Given the description of an element on the screen output the (x, y) to click on. 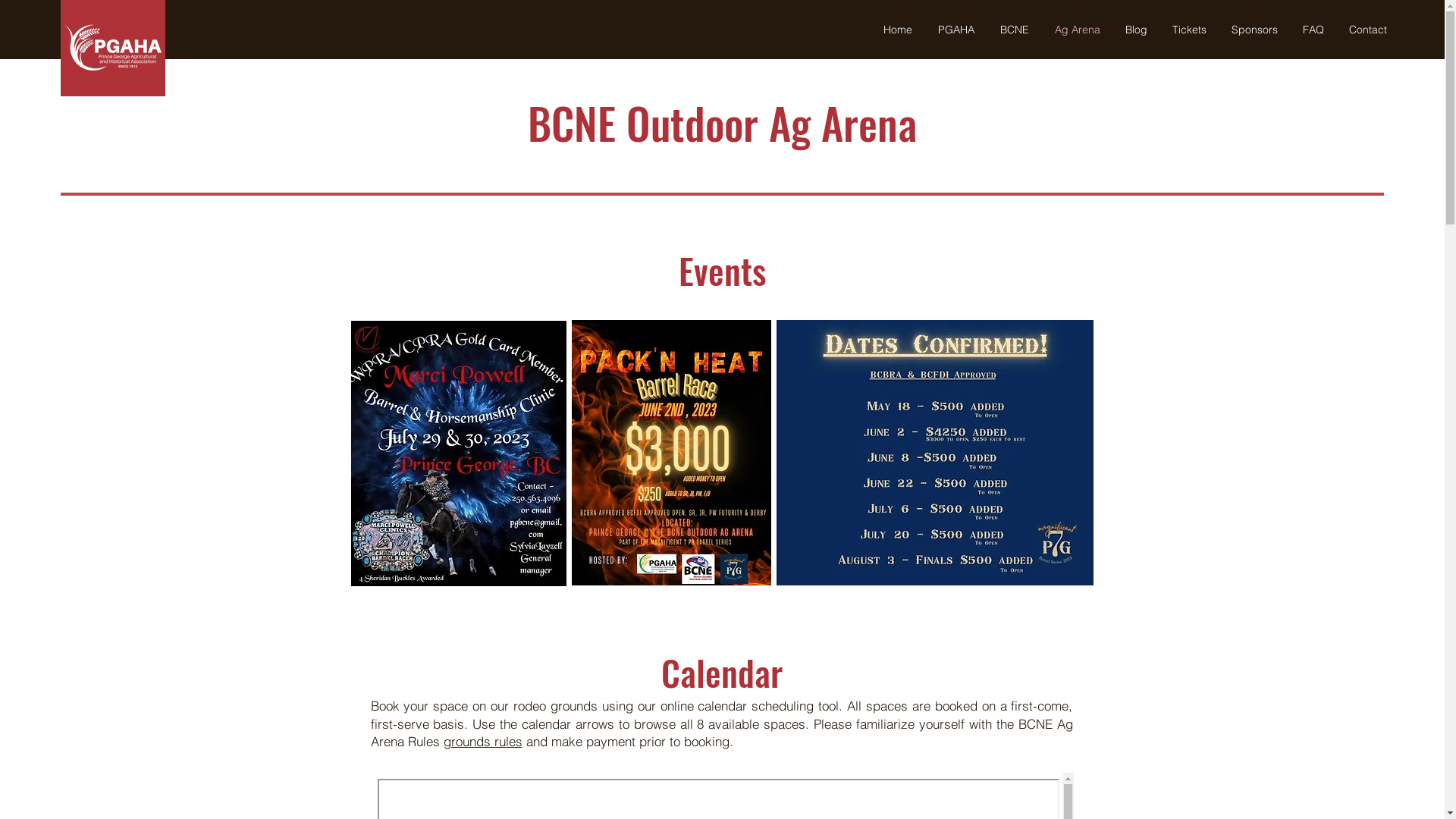
PGAHA Element type: text (956, 29)
FAQ Element type: text (1312, 29)
Ag Arena Element type: text (1076, 29)
Tickets Element type: text (1188, 29)
Sponsors Element type: text (1253, 29)
barrel race.jpg Element type: hover (457, 453)
Contact Element type: text (1367, 29)
packing heat.jpg Element type: hover (671, 452)
grounds rules Element type: text (481, 741)
Magnificent 7 PG Barrel Series.jpg Element type: hover (934, 452)
BCNE Element type: text (1014, 29)
Blog Element type: text (1135, 29)
Home Element type: text (897, 29)
